Given the description of an element on the screen output the (x, y) to click on. 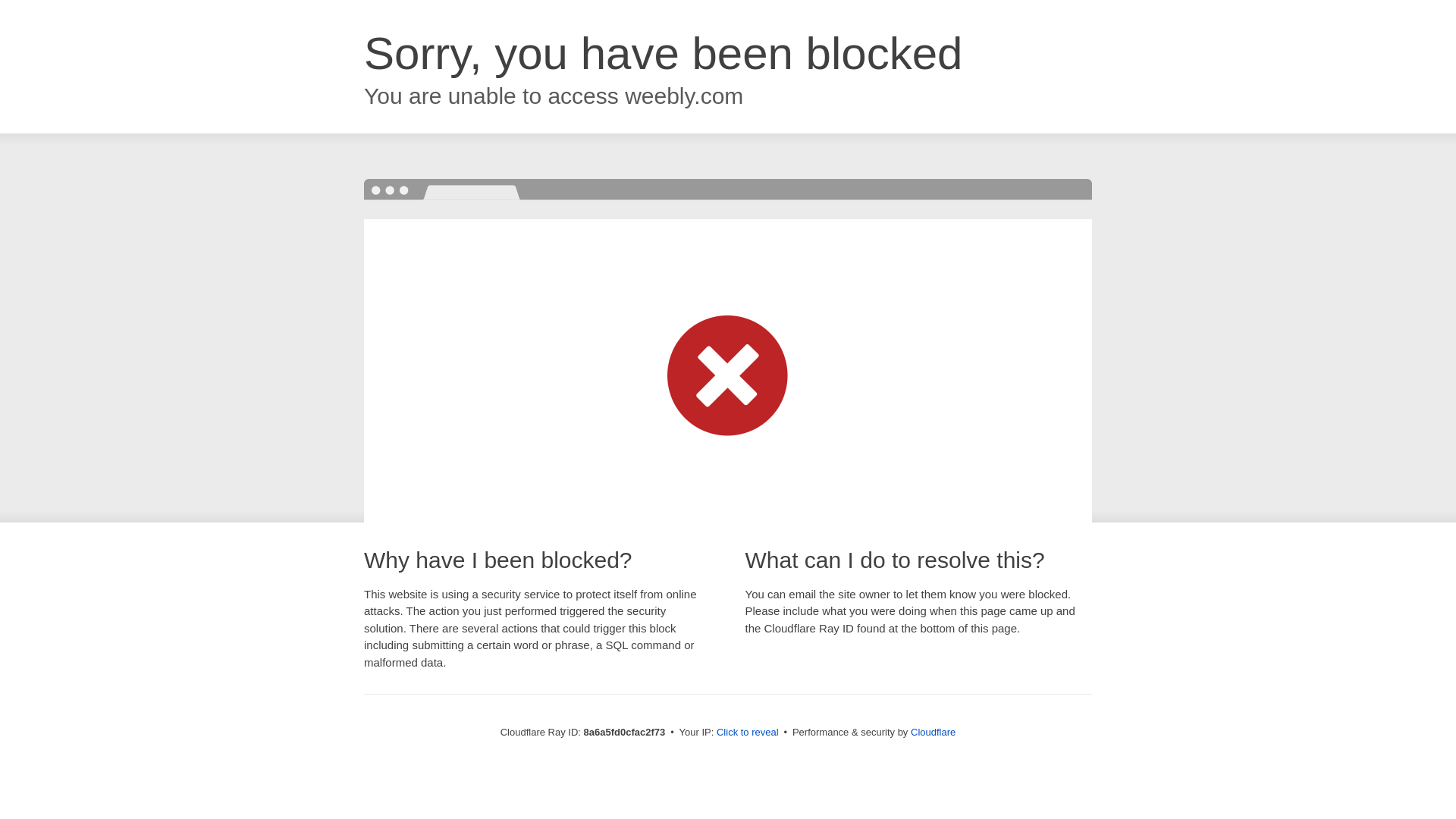
Click to reveal (747, 732)
Cloudflare (933, 731)
